Given the description of an element on the screen output the (x, y) to click on. 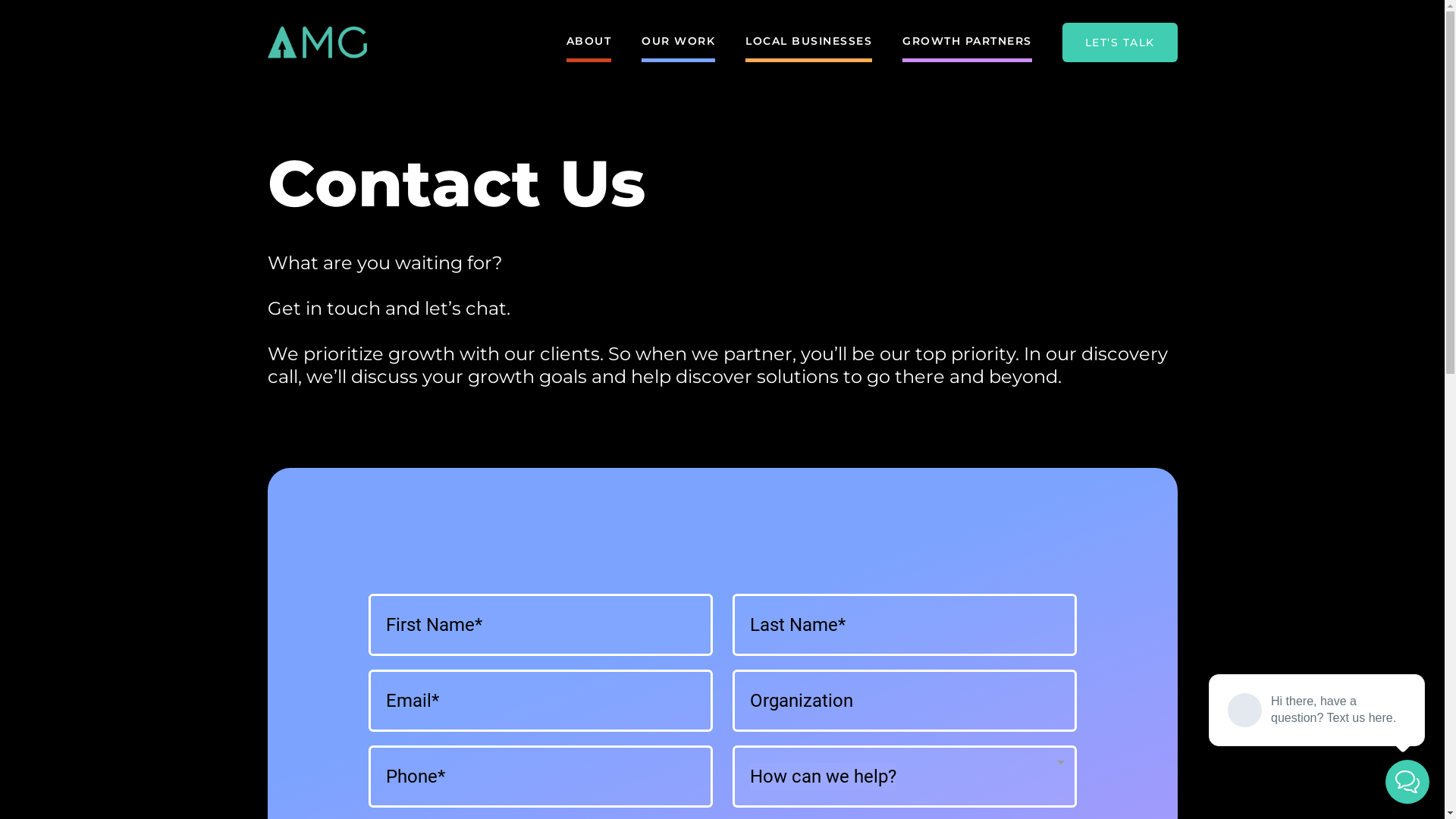
ABOUT Element type: text (588, 42)
GROWTH PARTNERS Element type: text (967, 42)
LOCAL BUSINESSES Element type: text (808, 42)
OUR WORK Element type: text (678, 42)
